Given the description of an element on the screen output the (x, y) to click on. 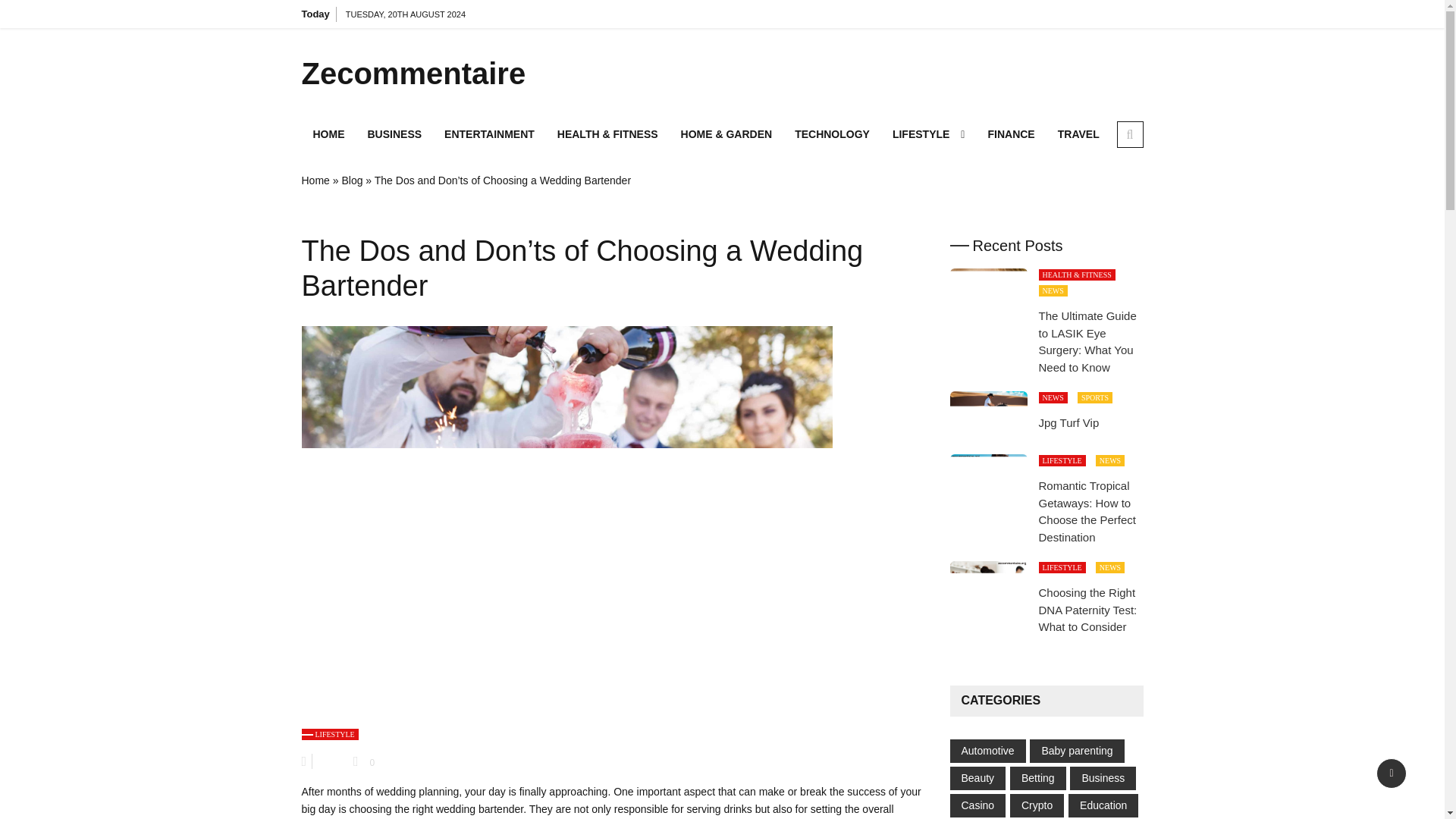
TECHNOLOGY (831, 133)
NEWS (1053, 290)
ENTERTAINMENT (489, 133)
NEWS (1053, 397)
HOME (328, 133)
BUSINESS (394, 133)
LIFESTYLE (928, 133)
Zecommentaire (434, 73)
Blog (351, 180)
TRAVEL (1078, 133)
